Given the description of an element on the screen output the (x, y) to click on. 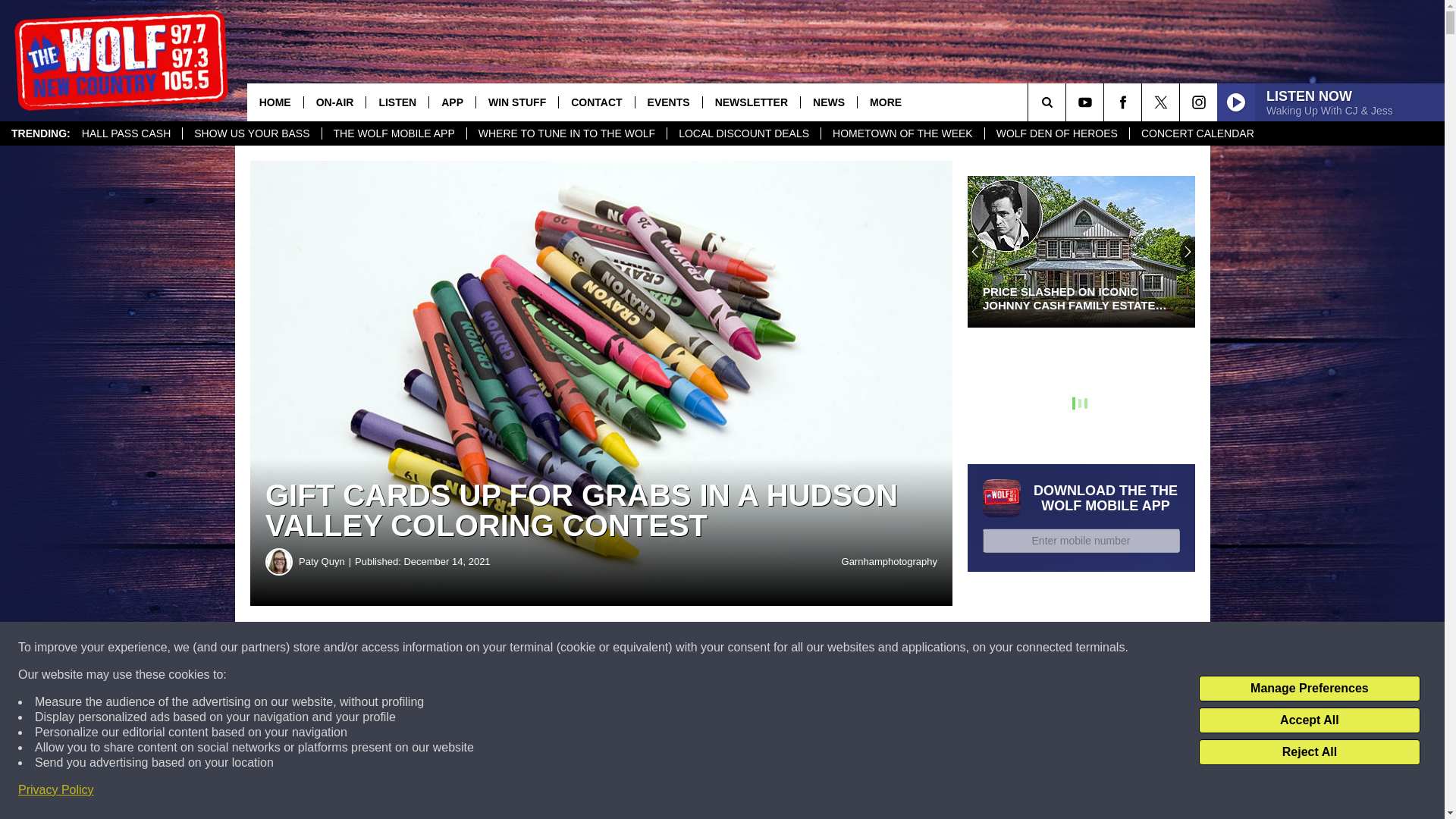
SHOW US YOUR BASS (251, 133)
WIN STUFF (516, 102)
Privacy Policy (55, 789)
LOCAL DISCOUNT DEALS (743, 133)
HOMETOWN OF THE WEEK (902, 133)
HOME (274, 102)
Manage Preferences (1309, 688)
APP (452, 102)
WHERE TO TUNE IN TO THE WOLF (565, 133)
Share on Twitter (741, 647)
Share on Facebook (460, 647)
SEARCH (1068, 102)
Reject All (1309, 751)
THE WOLF MOBILE APP (393, 133)
SEARCH (1068, 102)
